Given the description of an element on the screen output the (x, y) to click on. 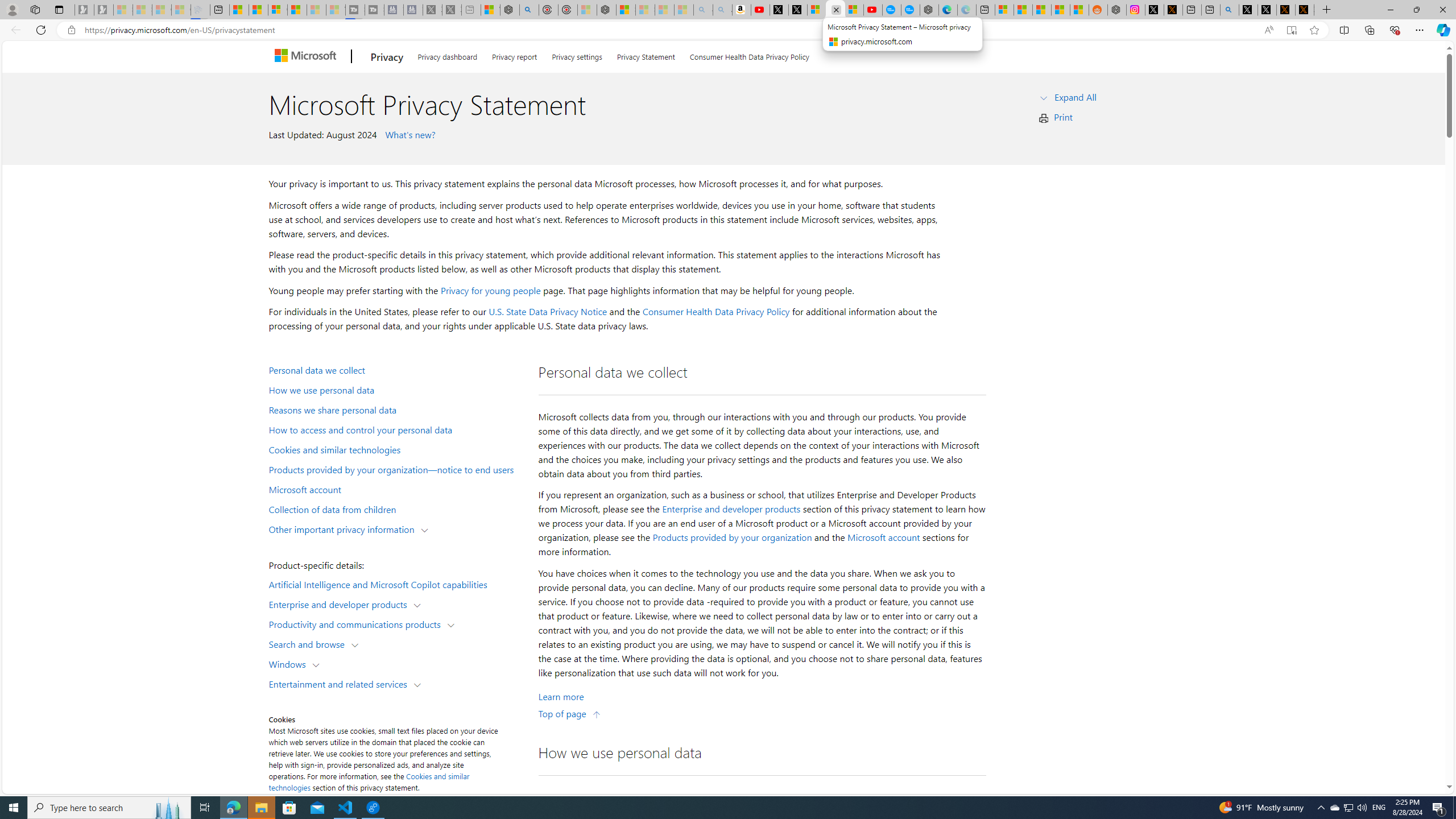
Cookies and similar technologies (368, 780)
Privacy settings (576, 54)
Amazon Echo Dot PNG - Search Images - Sleeping (721, 9)
Consumer Health Data Privacy Policy (716, 311)
Artificial Intelligence and Microsoft Copilot capabilities (395, 583)
Microsoft account (395, 488)
Consumer Health Data Privacy Policy (748, 54)
U.S. State Data Privacy Notice (548, 311)
